Given the description of an element on the screen output the (x, y) to click on. 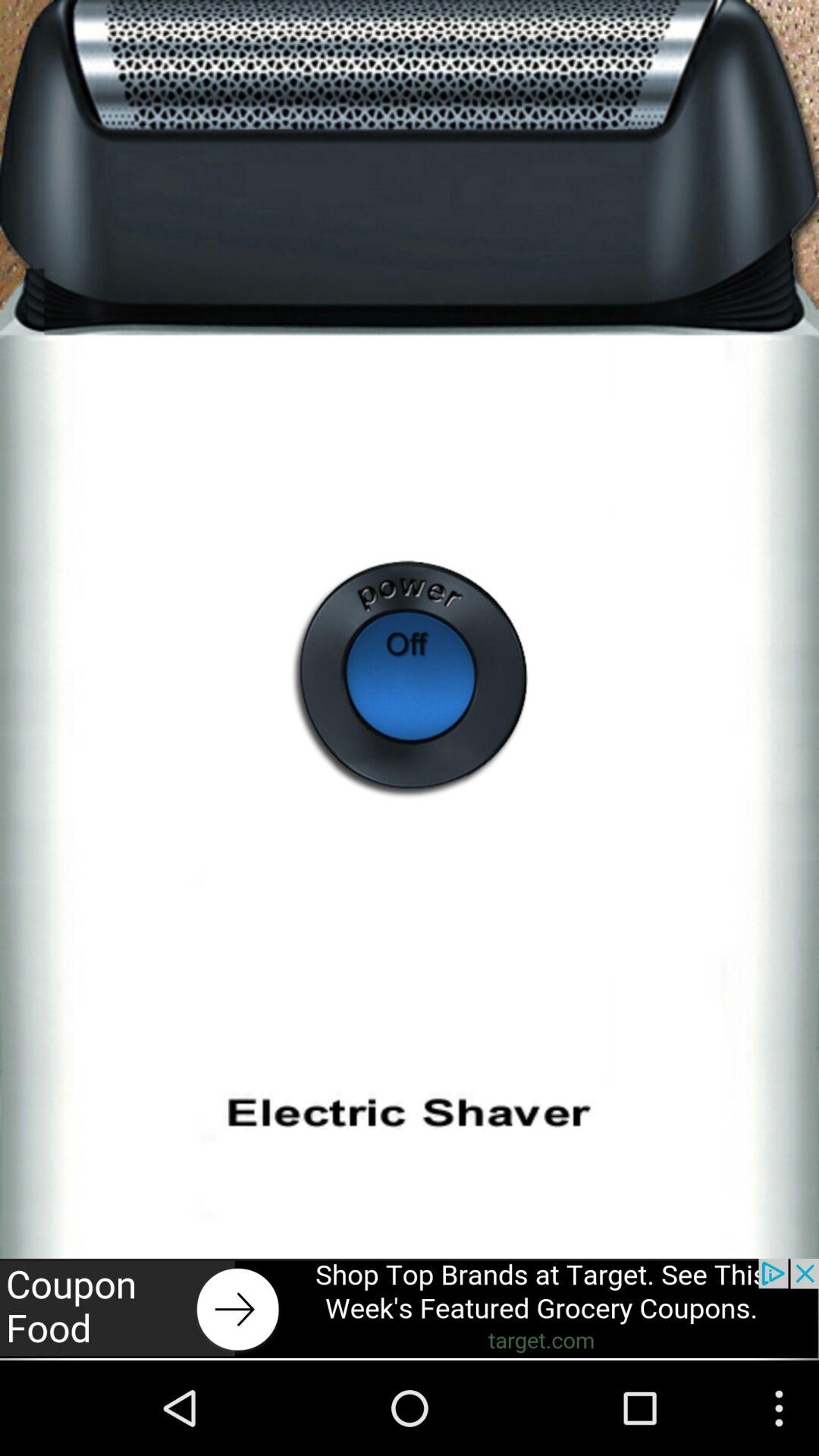
open advertisement (409, 1308)
